Given the description of an element on the screen output the (x, y) to click on. 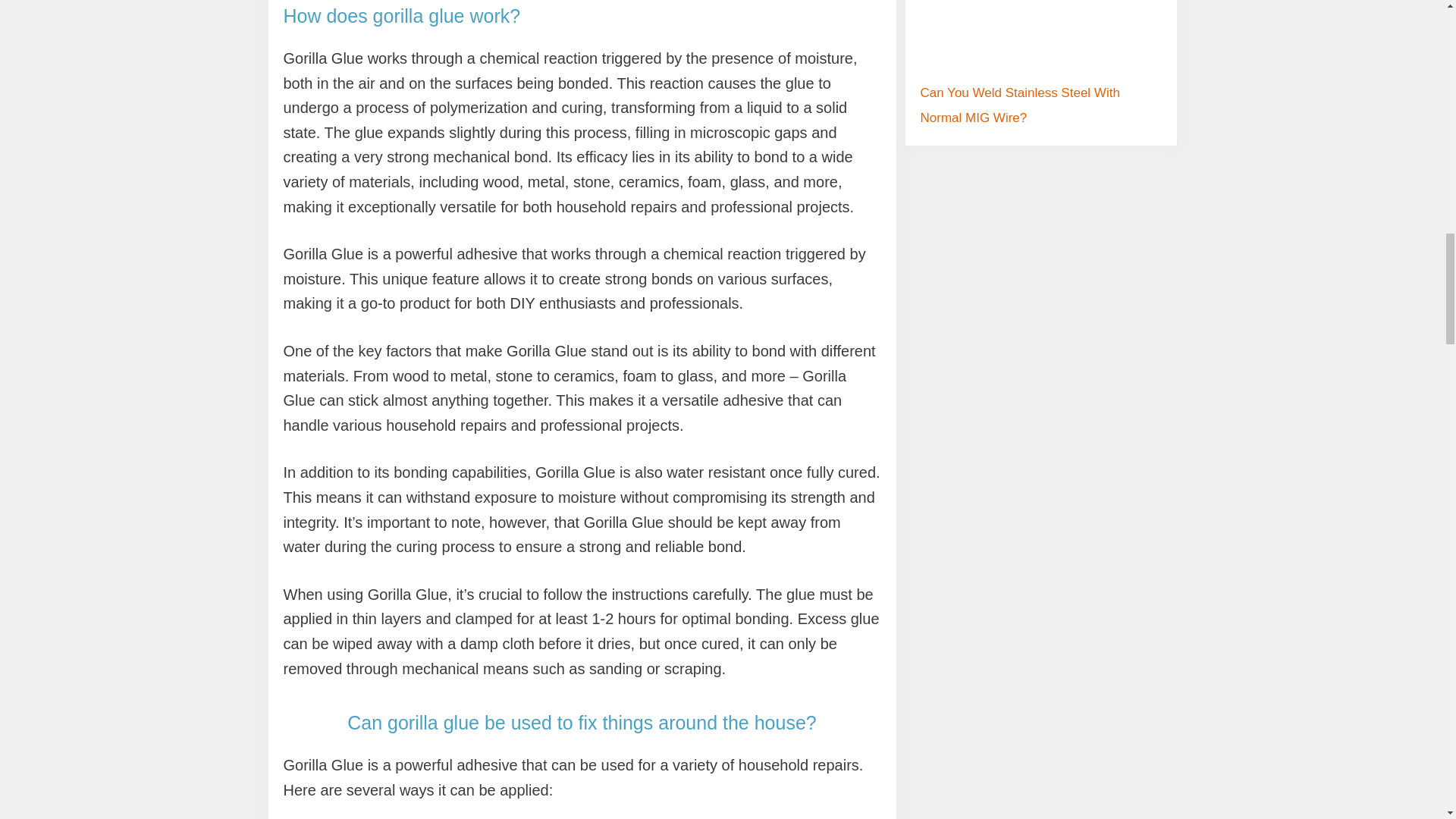
Can You Weld Stainless Steel With Normal MIG Wire? (1019, 105)
